Given the description of an element on the screen output the (x, y) to click on. 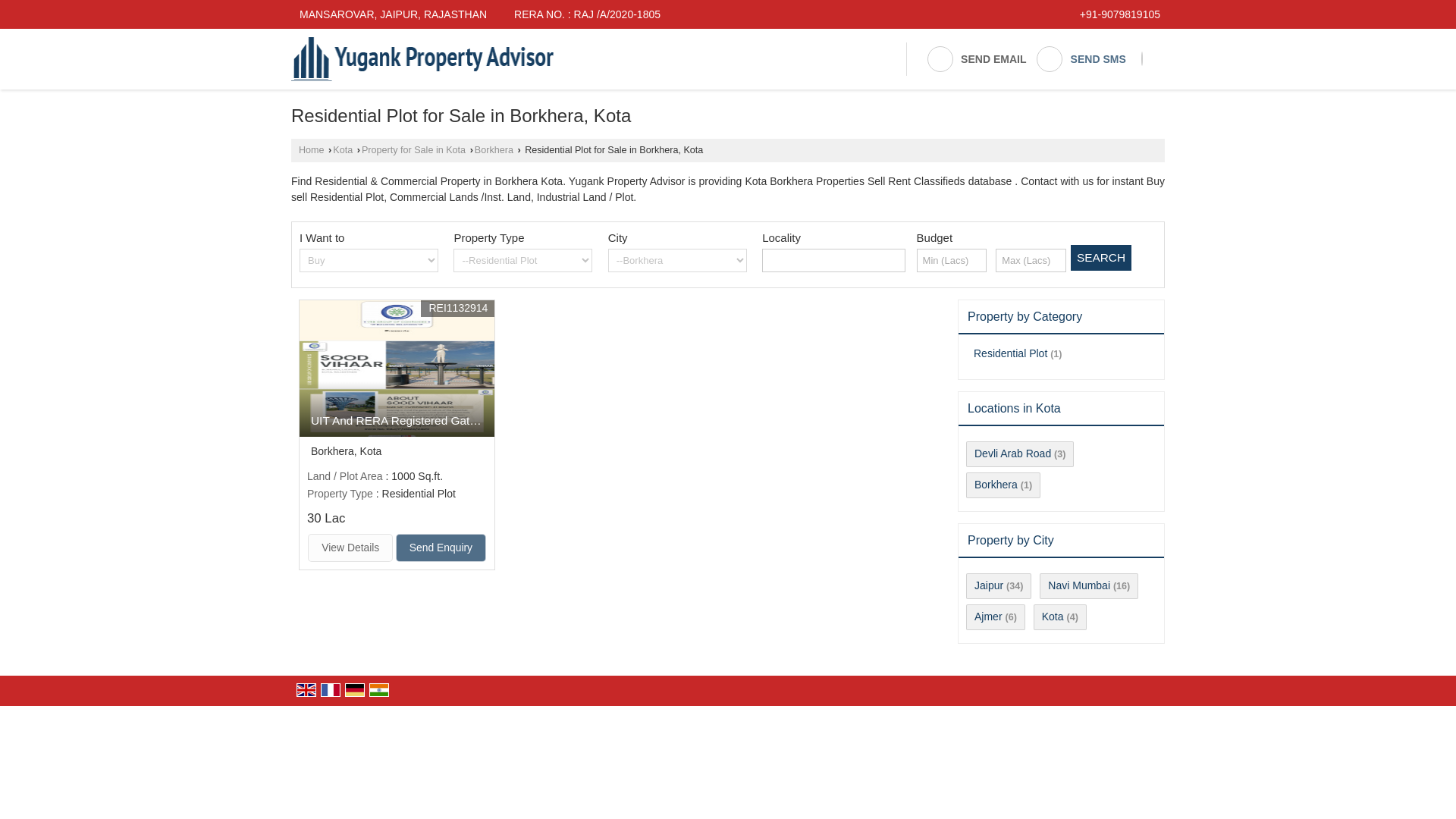
SEARCH (1100, 257)
SEND SMS (1080, 59)
SEND EMAIL (975, 59)
Yugank Property Advisor (422, 58)
